Given the description of an element on the screen output the (x, y) to click on. 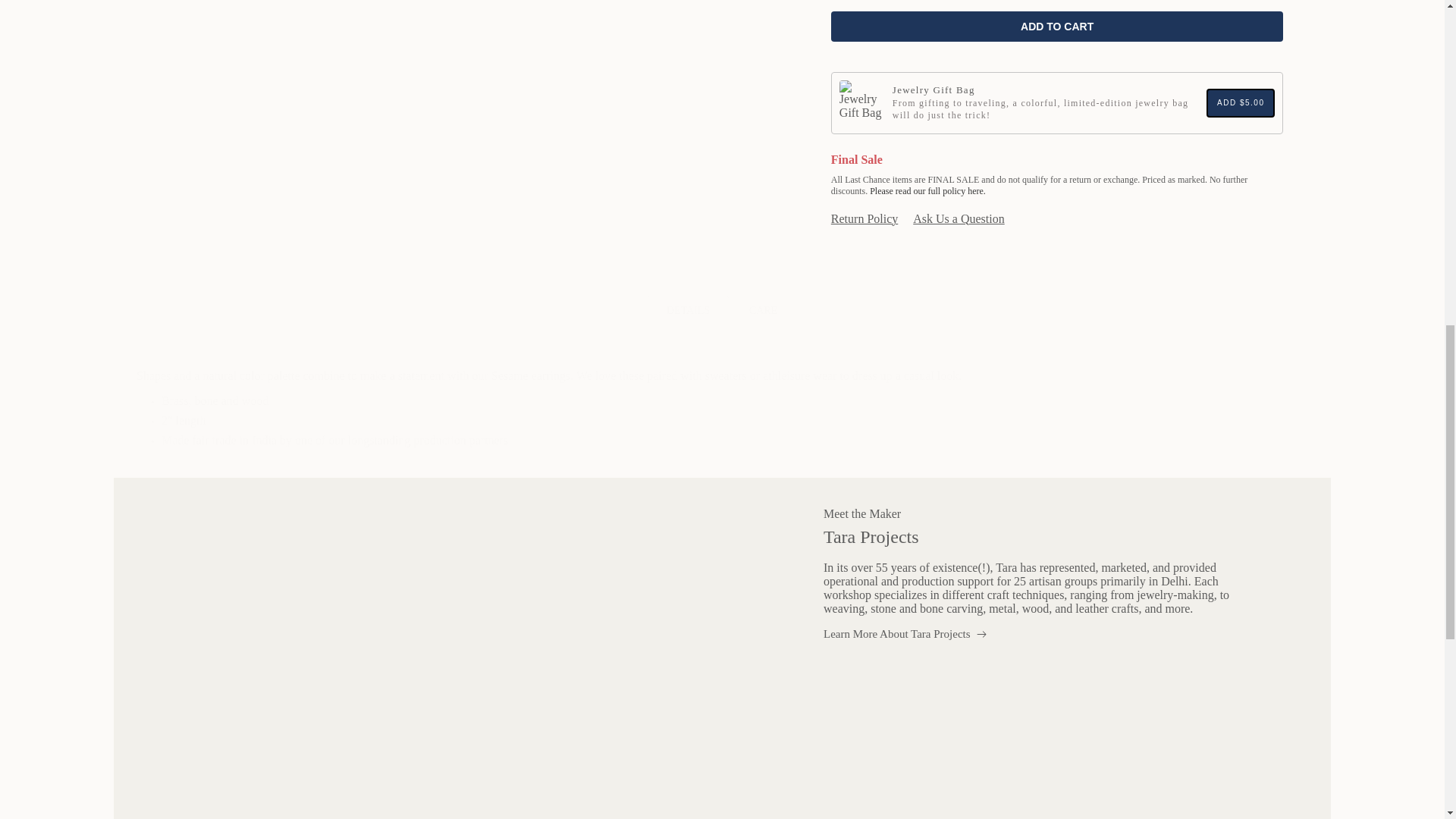
DETAILS (687, 310)
Learn More About Tara Projects (905, 633)
CARE (762, 310)
